Given the description of an element on the screen output the (x, y) to click on. 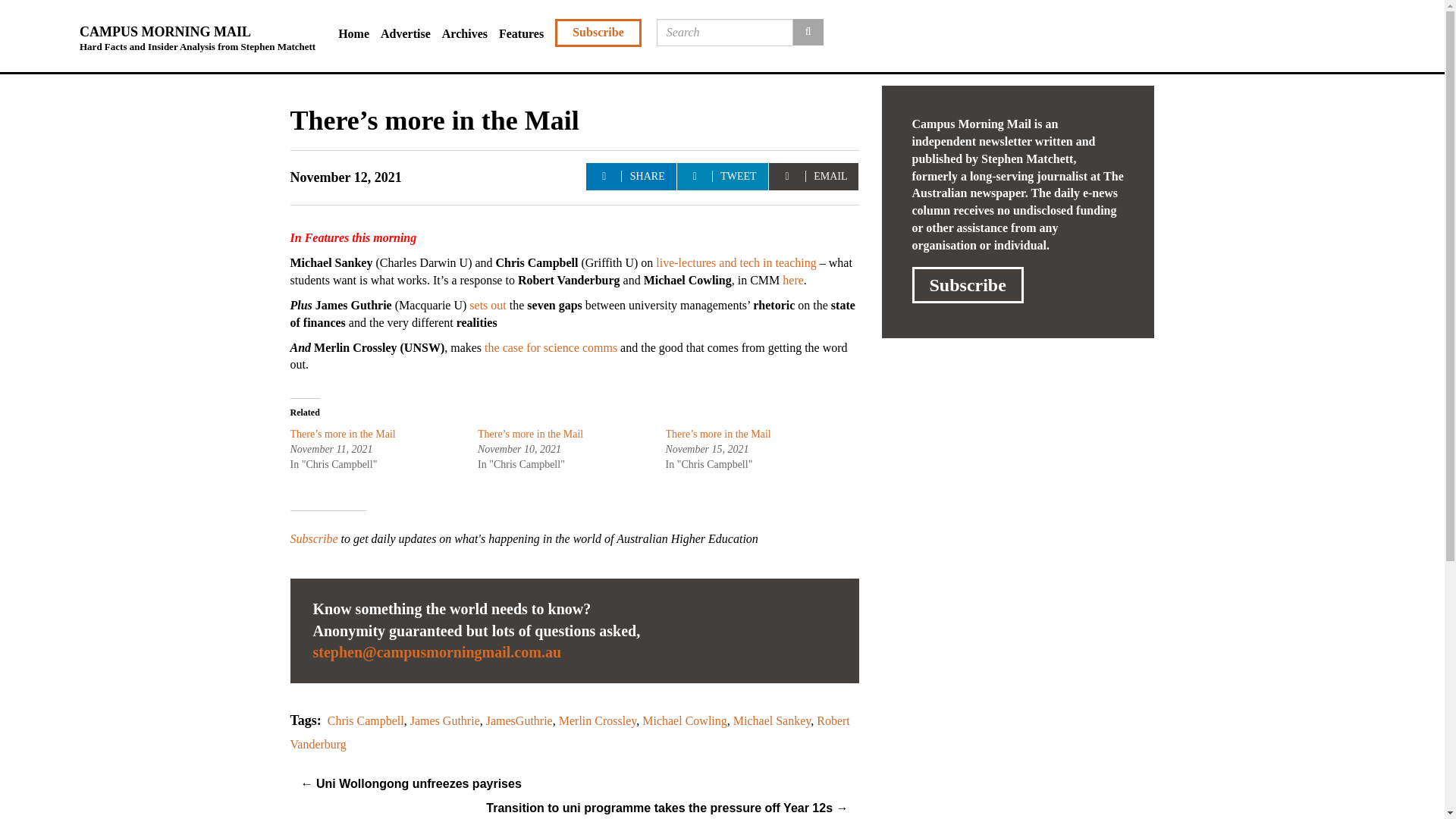
Michael Cowling (684, 720)
James Guthrie (445, 720)
SHARE (630, 176)
Chris Campbell (365, 720)
Merlin Crossley (598, 720)
Robert Vanderburg (568, 732)
Archives (470, 34)
Features (526, 34)
live-lectures and tech in teaching (735, 262)
Share via email (813, 176)
Home (358, 34)
Michael Sankey (771, 720)
Subscribe (967, 284)
Home (358, 34)
